Given the description of an element on the screen output the (x, y) to click on. 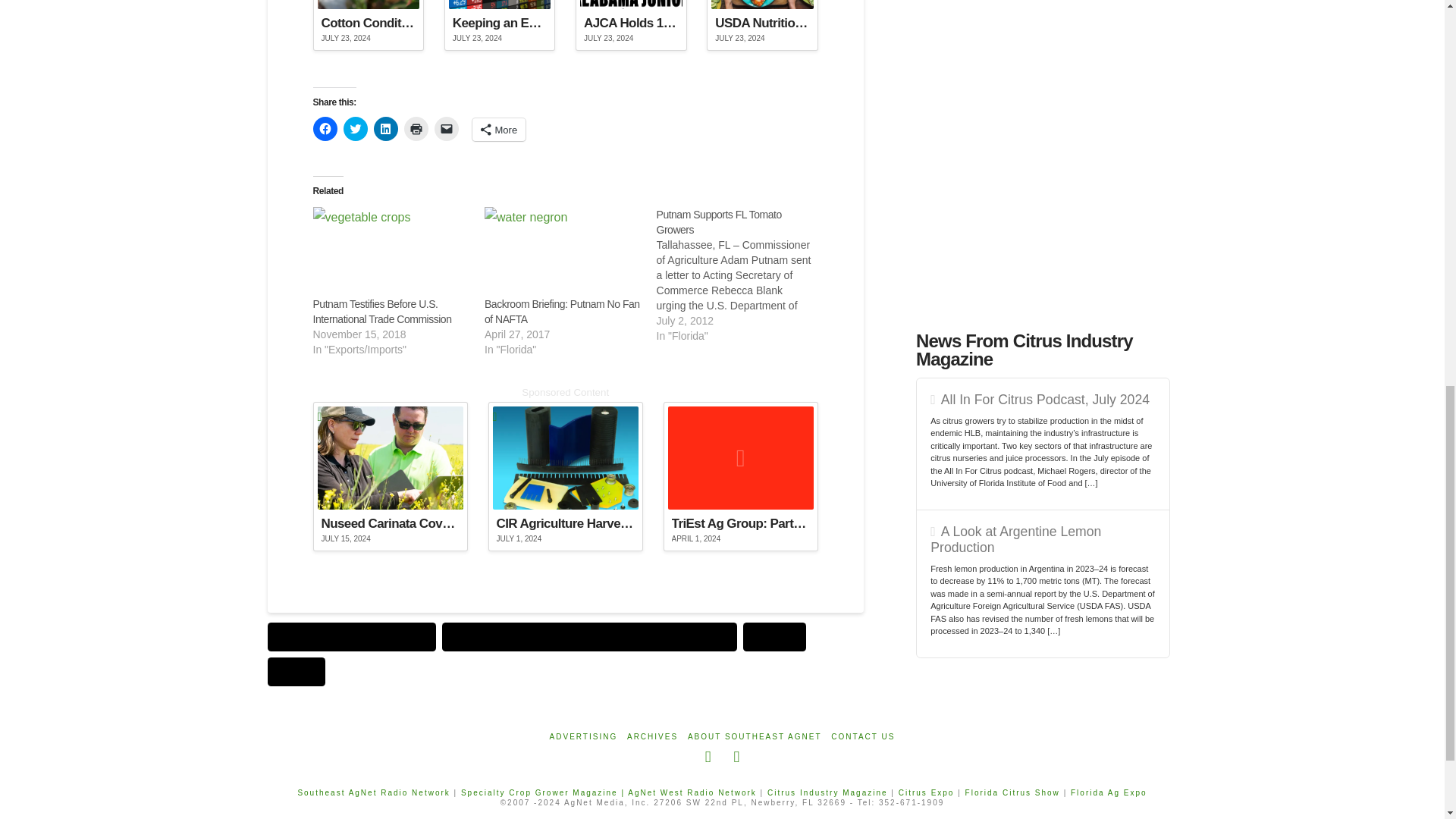
Click to share on Facebook (324, 128)
Permalink to: "Keeping an Eye on Wall Street" (500, 25)
Click to share on Twitter (354, 128)
Permalink to: "USDA Nutrition Hubs" (762, 25)
Permalink to: "AJCA Holds 18th Annual Round-Up" (631, 25)
Click to share on LinkedIn (384, 128)
Click to print (415, 128)
